Given the description of an element on the screen output the (x, y) to click on. 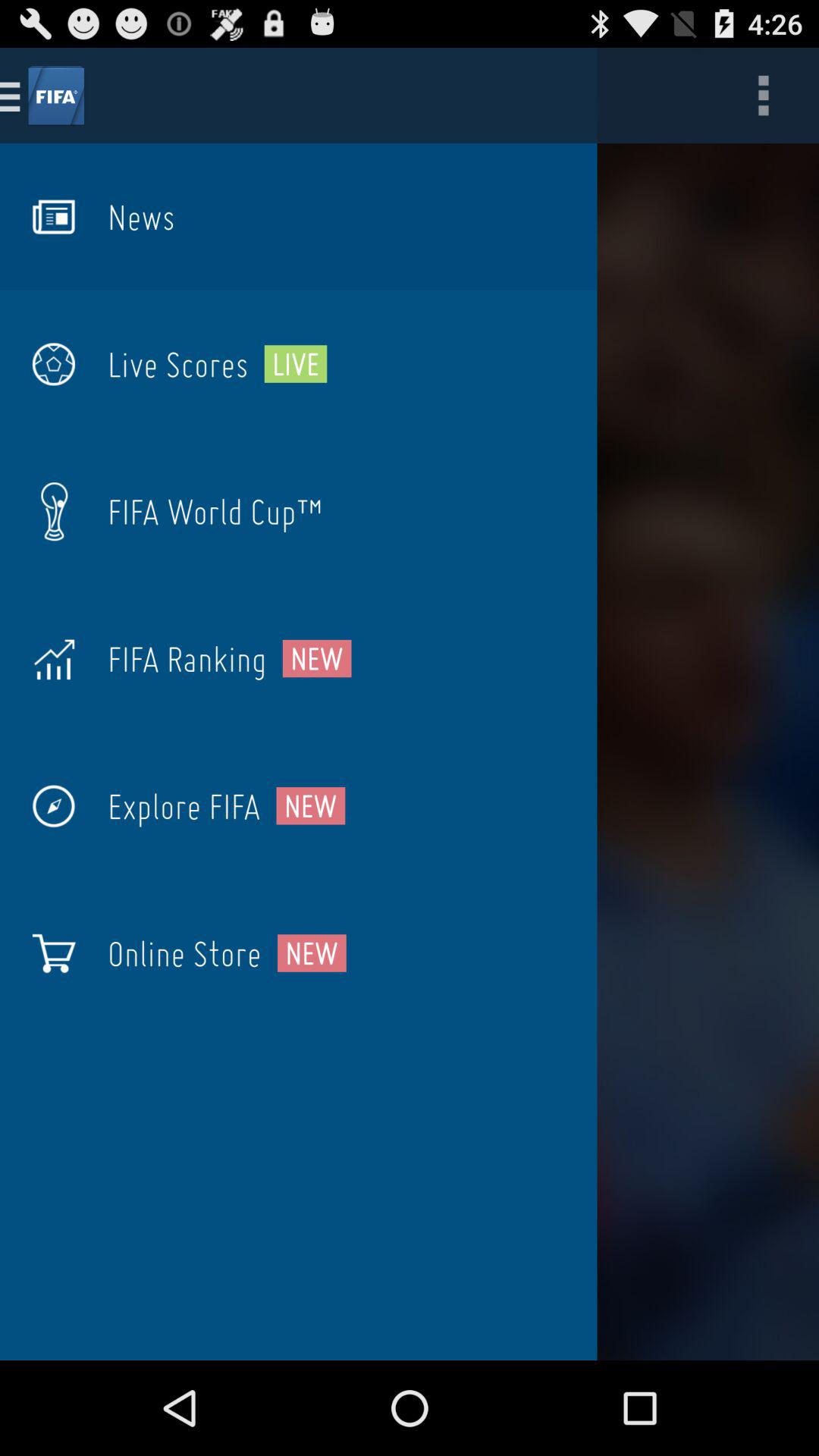
choose the item to the left of new (183, 805)
